Given the description of an element on the screen output the (x, y) to click on. 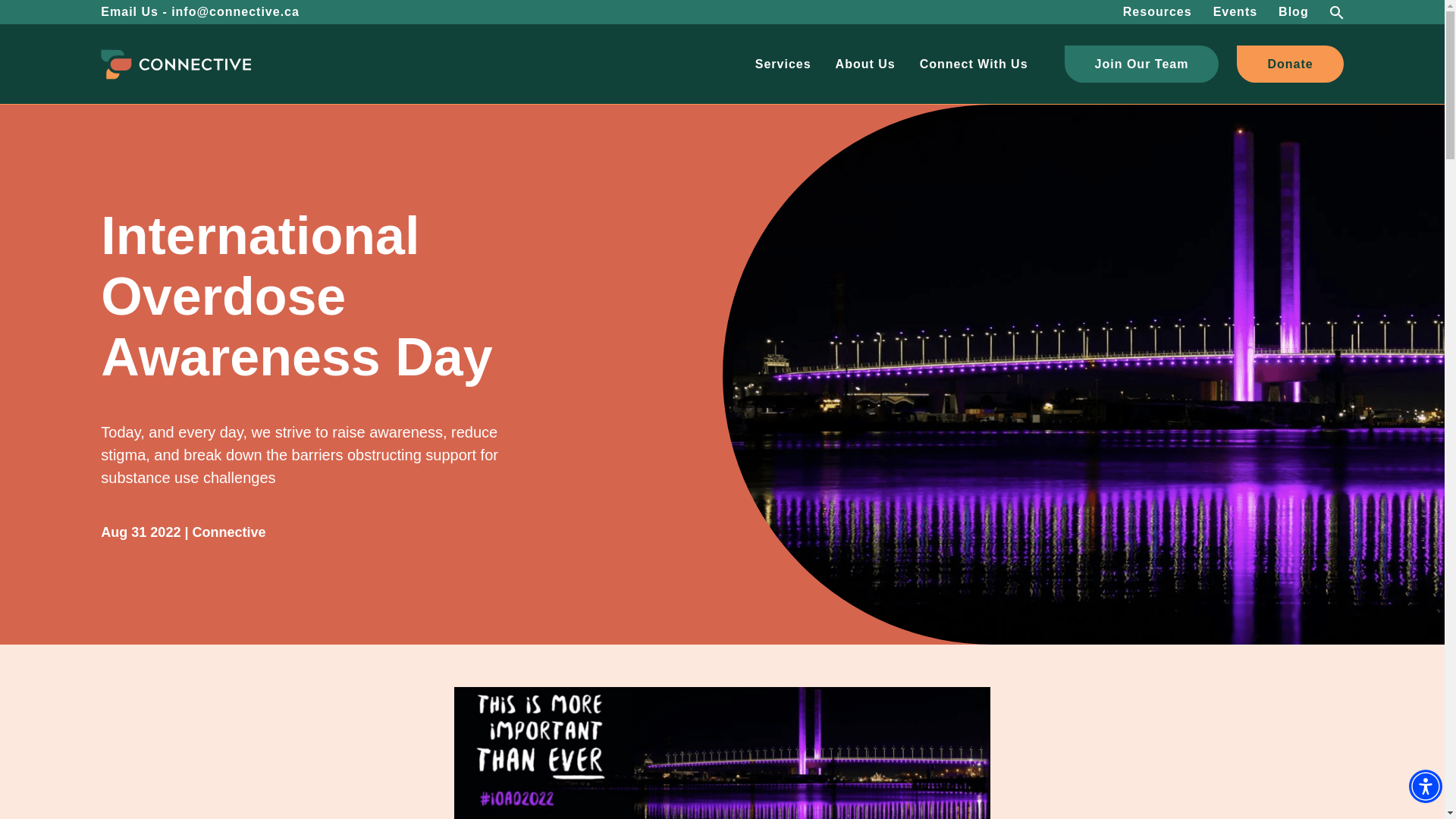
Accessibility Menu (1425, 786)
Blog (1293, 12)
Resources (1157, 12)
Services (782, 63)
Donate (1289, 63)
Resources (1157, 12)
Events (1234, 12)
About Us (865, 63)
Join Our Team (1142, 63)
Connect With Us (973, 63)
Events (1234, 12)
Blog (1293, 12)
